Given the description of an element on the screen output the (x, y) to click on. 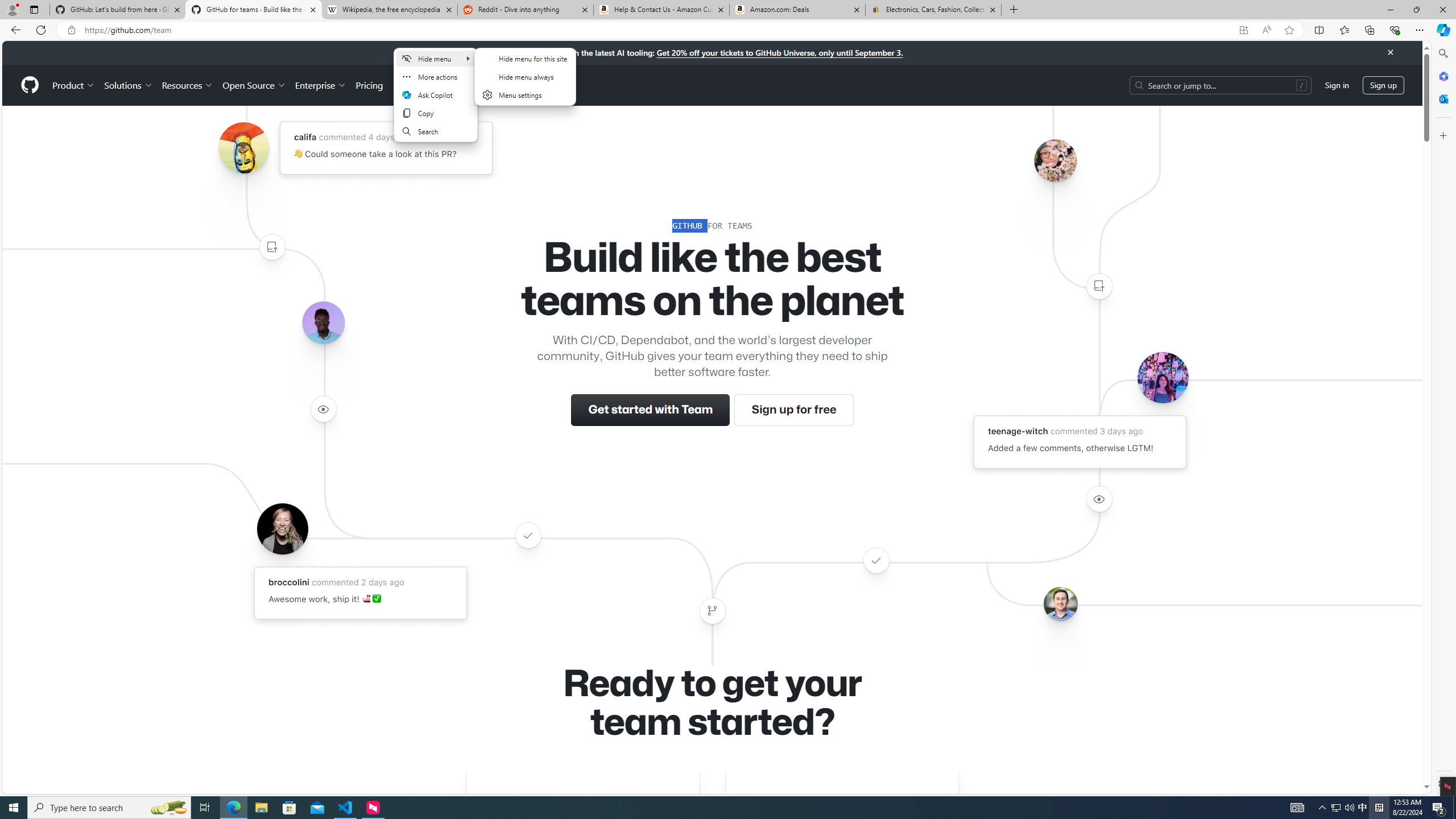
Sign up (1382, 84)
Open Source (254, 84)
Hide menu always (524, 76)
Ask Copilot (435, 94)
Get started with Team (650, 409)
Amazon.com: Deals (797, 9)
